Given the description of an element on the screen output the (x, y) to click on. 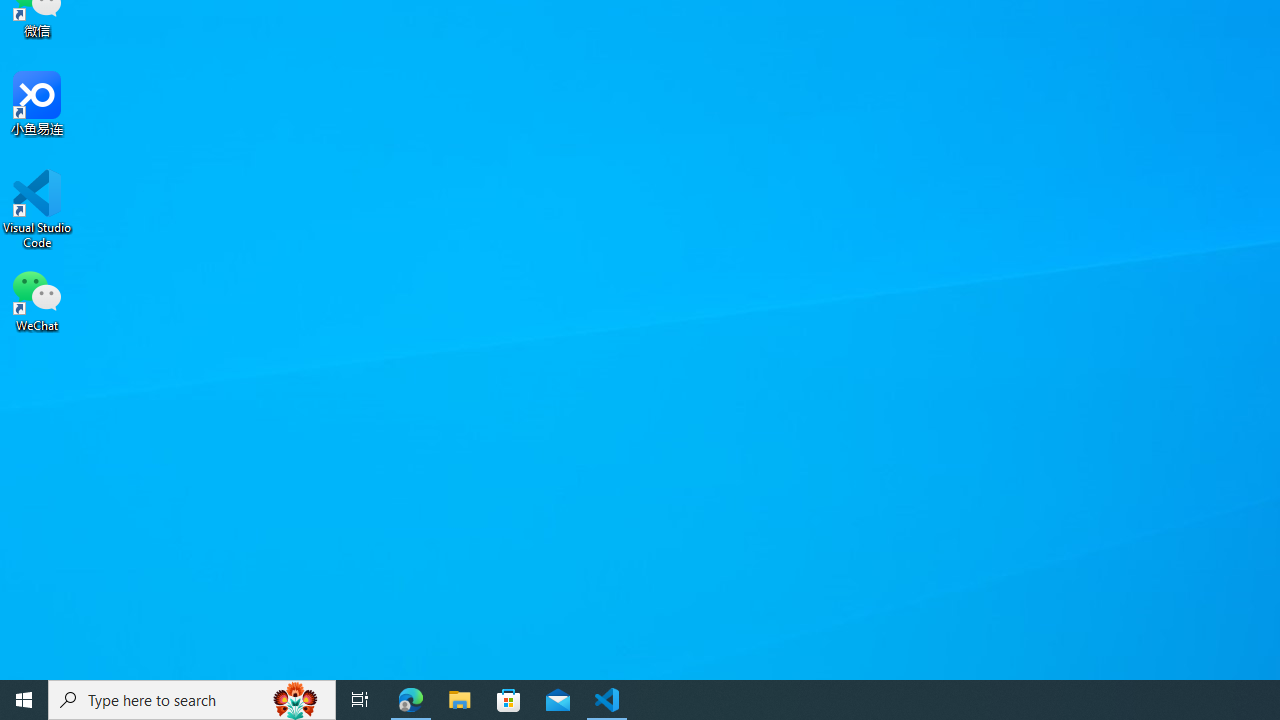
Search highlights icon opens search home window (295, 699)
Type here to search (191, 699)
Start (24, 699)
Visual Studio Code - 1 running window (607, 699)
Task View (359, 699)
WeChat (37, 299)
File Explorer (460, 699)
Microsoft Edge - 1 running window (411, 699)
Microsoft Store (509, 699)
Visual Studio Code (37, 209)
